Given the description of an element on the screen output the (x, y) to click on. 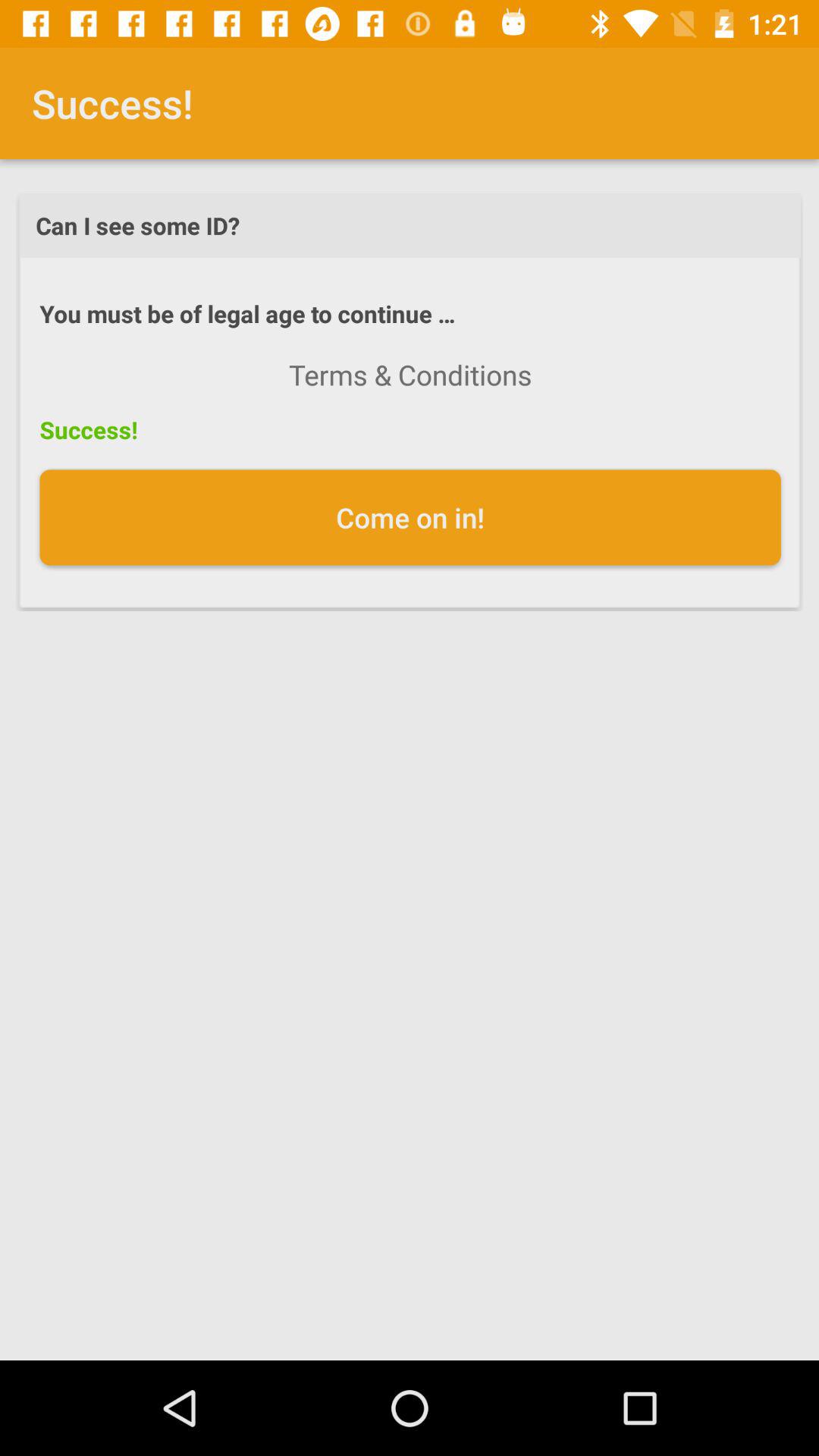
scroll to the come on in! item (409, 517)
